Given the description of an element on the screen output the (x, y) to click on. 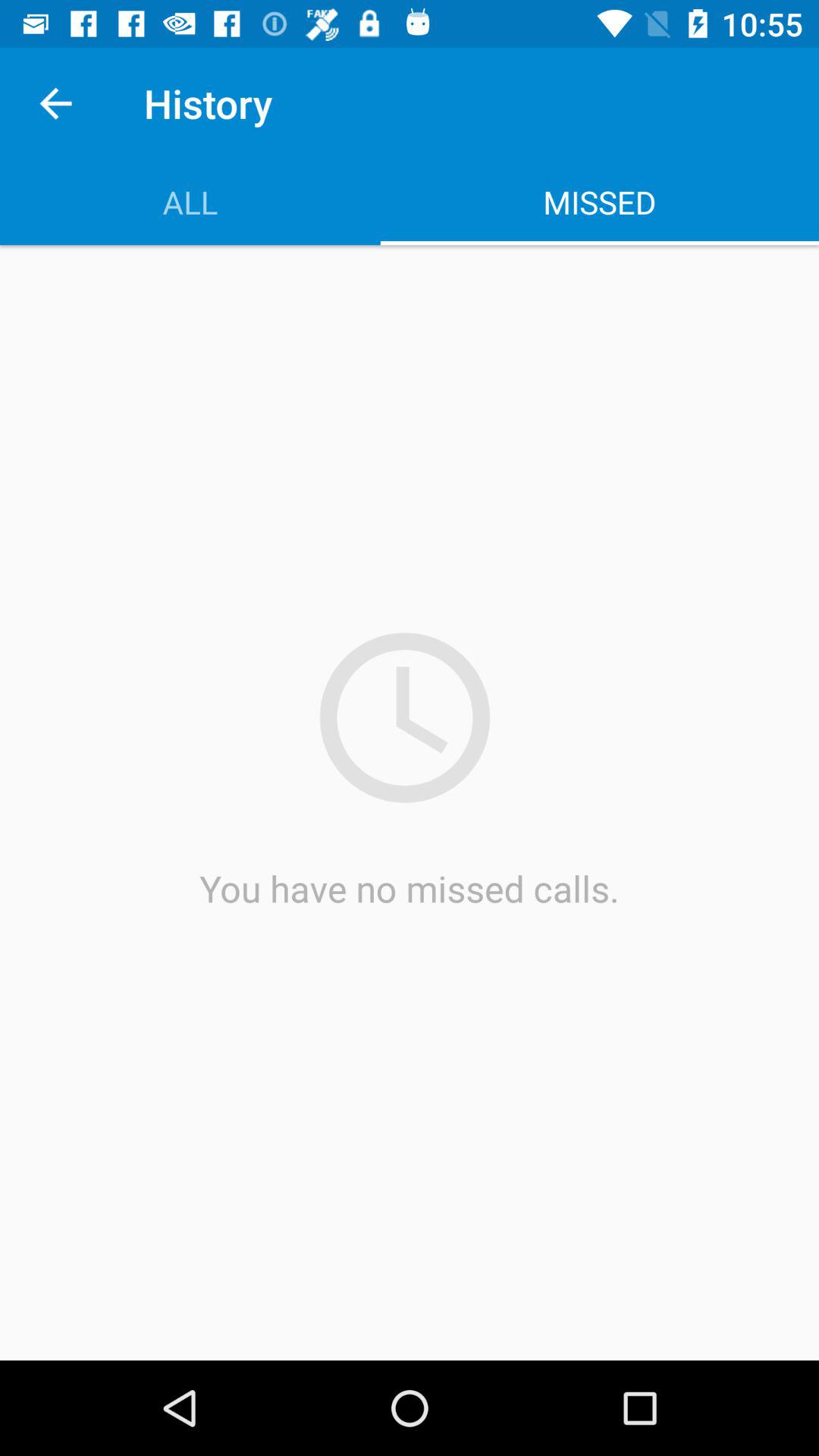
select all (190, 202)
